Given the description of an element on the screen output the (x, y) to click on. 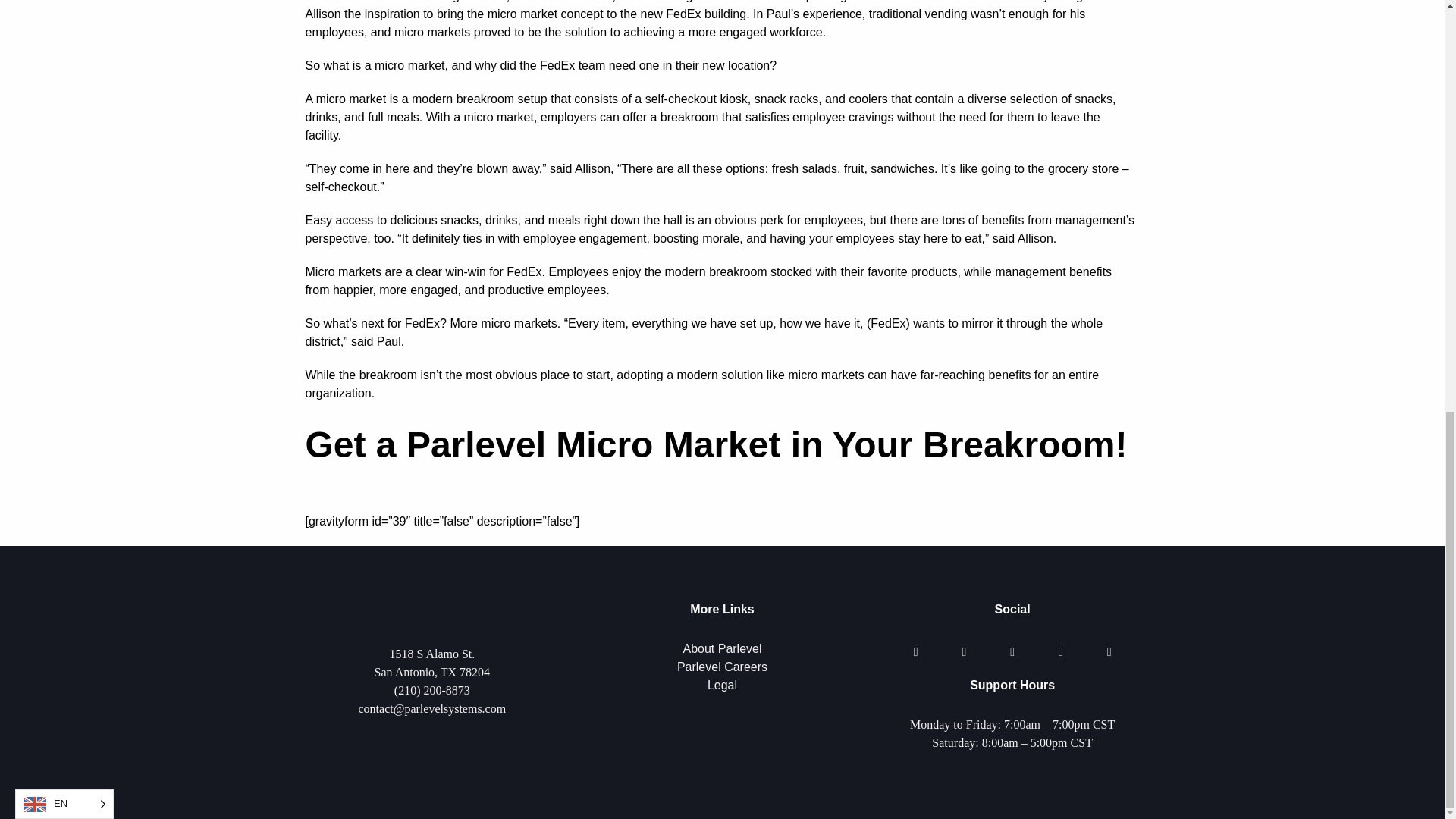
Legal (721, 684)
About Parlevel (721, 648)
Parlevel Careers (722, 666)
